Given the description of an element on the screen output the (x, y) to click on. 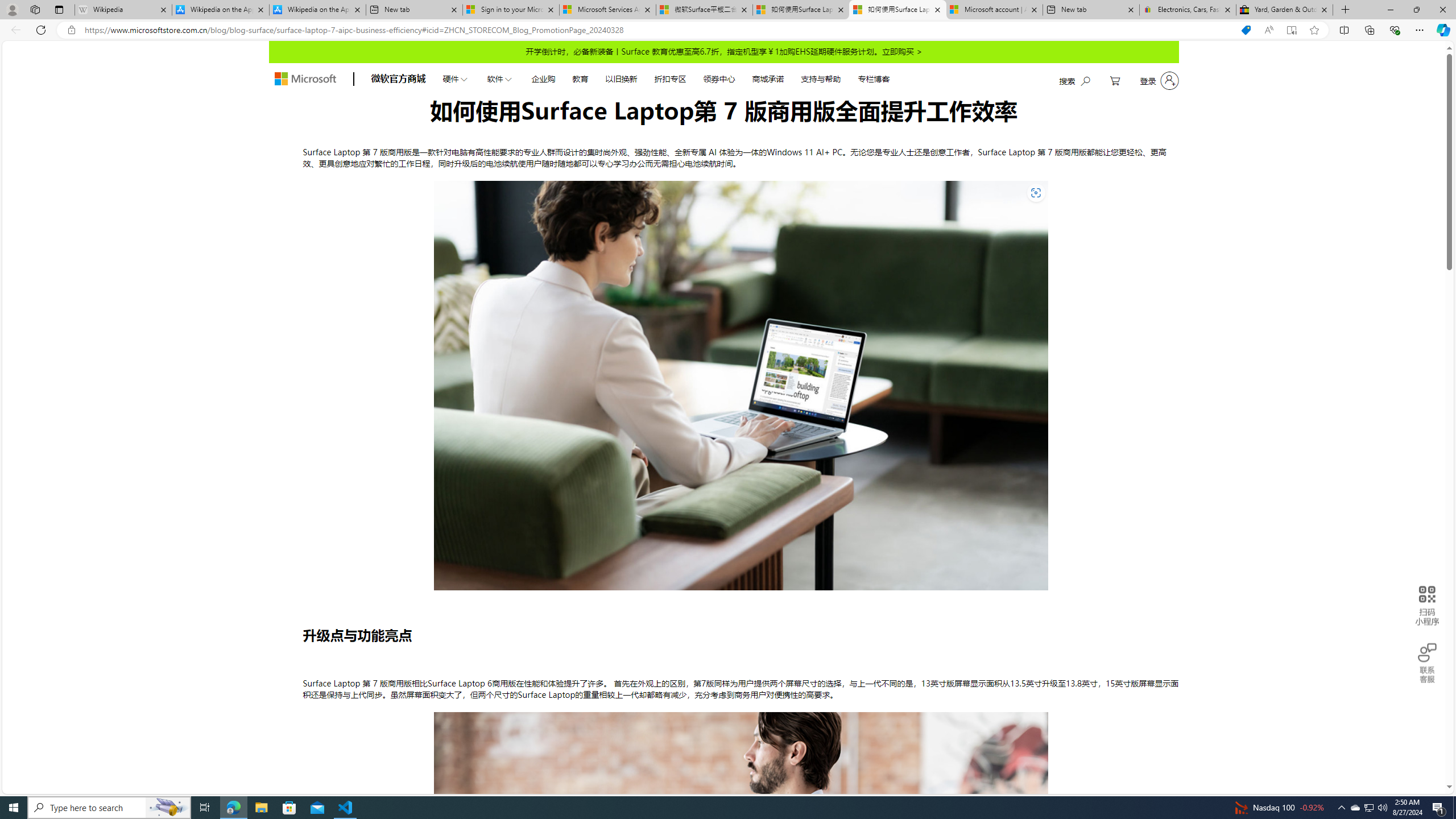
store logo (304, 78)
Microsoft Services Agreement (607, 9)
Sign in to your Microsoft account (510, 9)
